Given the description of an element on the screen output the (x, y) to click on. 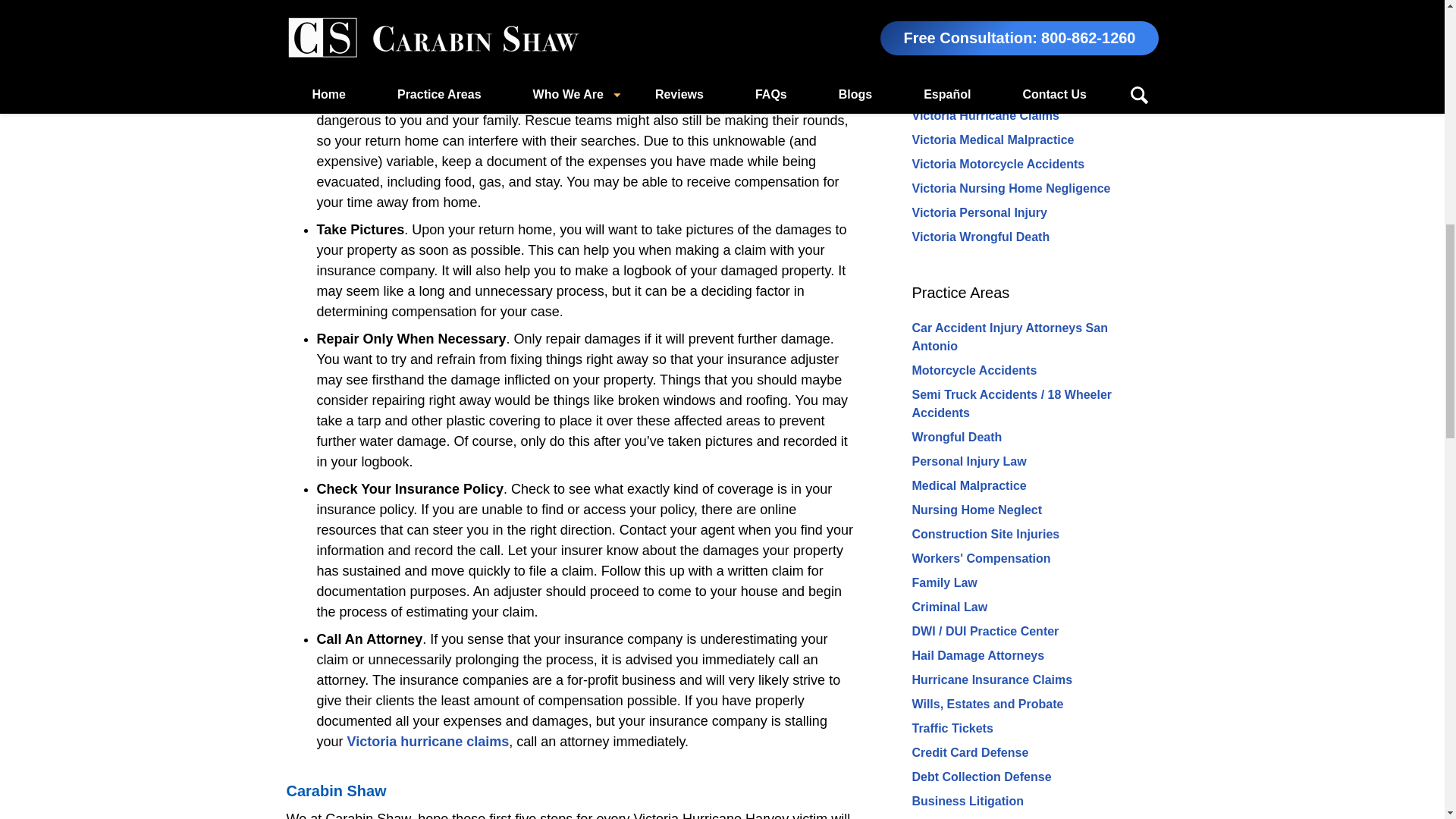
Victoria Hurricane Claims (984, 115)
Victoria Auto Accidents (978, 91)
Victoria Motorcycle Accidents (997, 164)
Victoria 18 Wheeler Accidents (997, 66)
Victoria hurricane claims (428, 741)
Victoria Medical Malpractice (992, 139)
Victoria Practice Areas (987, 31)
